Given the description of an element on the screen output the (x, y) to click on. 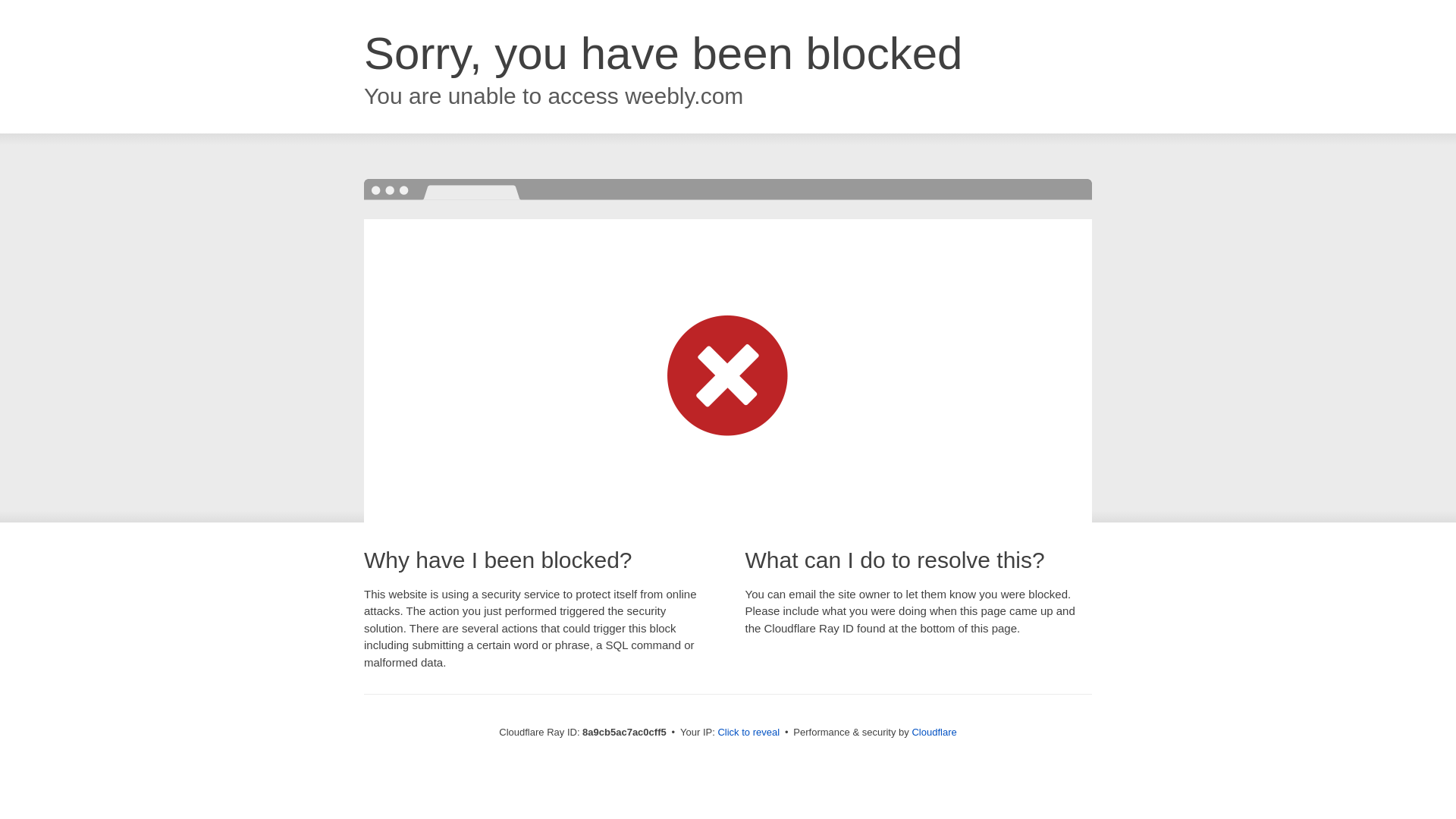
Cloudflare (933, 731)
Click to reveal (747, 732)
